Given the description of an element on the screen output the (x, y) to click on. 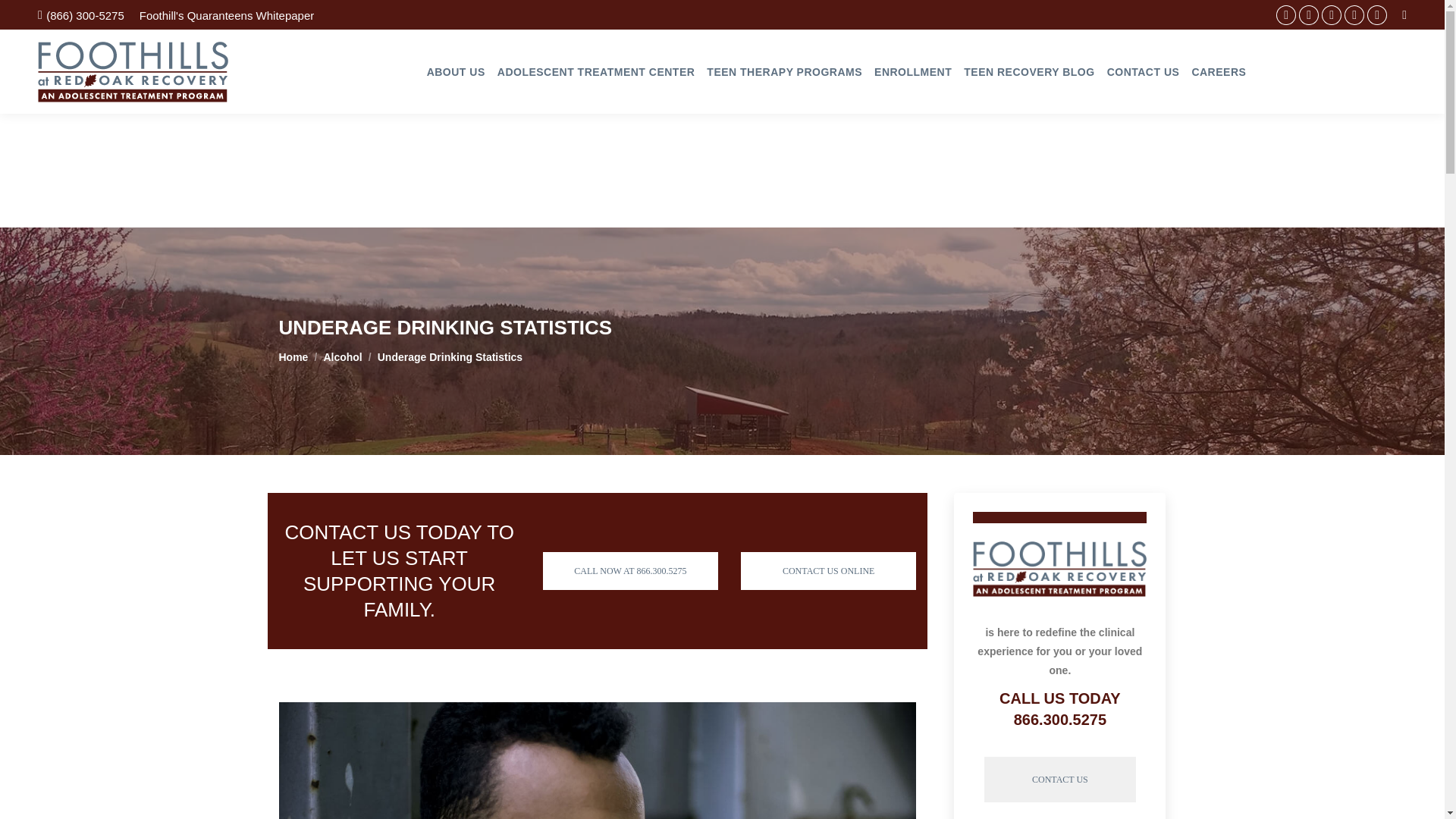
Linkedin page opens in new window (1308, 14)
Twitter page opens in new window (1331, 14)
ADOLESCENT TREATMENT CENTER (596, 71)
Instagram page opens in new window (1377, 14)
ABOUT US (455, 71)
Linkedin page opens in new window (1308, 14)
YouTube page opens in new window (1353, 14)
Facebook page opens in new window (1285, 14)
Facebook page opens in new window (1285, 14)
Go! (24, 15)
Twitter page opens in new window (1331, 14)
Foothill's Quaranteens Whitepaper (226, 15)
